Given the description of an element on the screen output the (x, y) to click on. 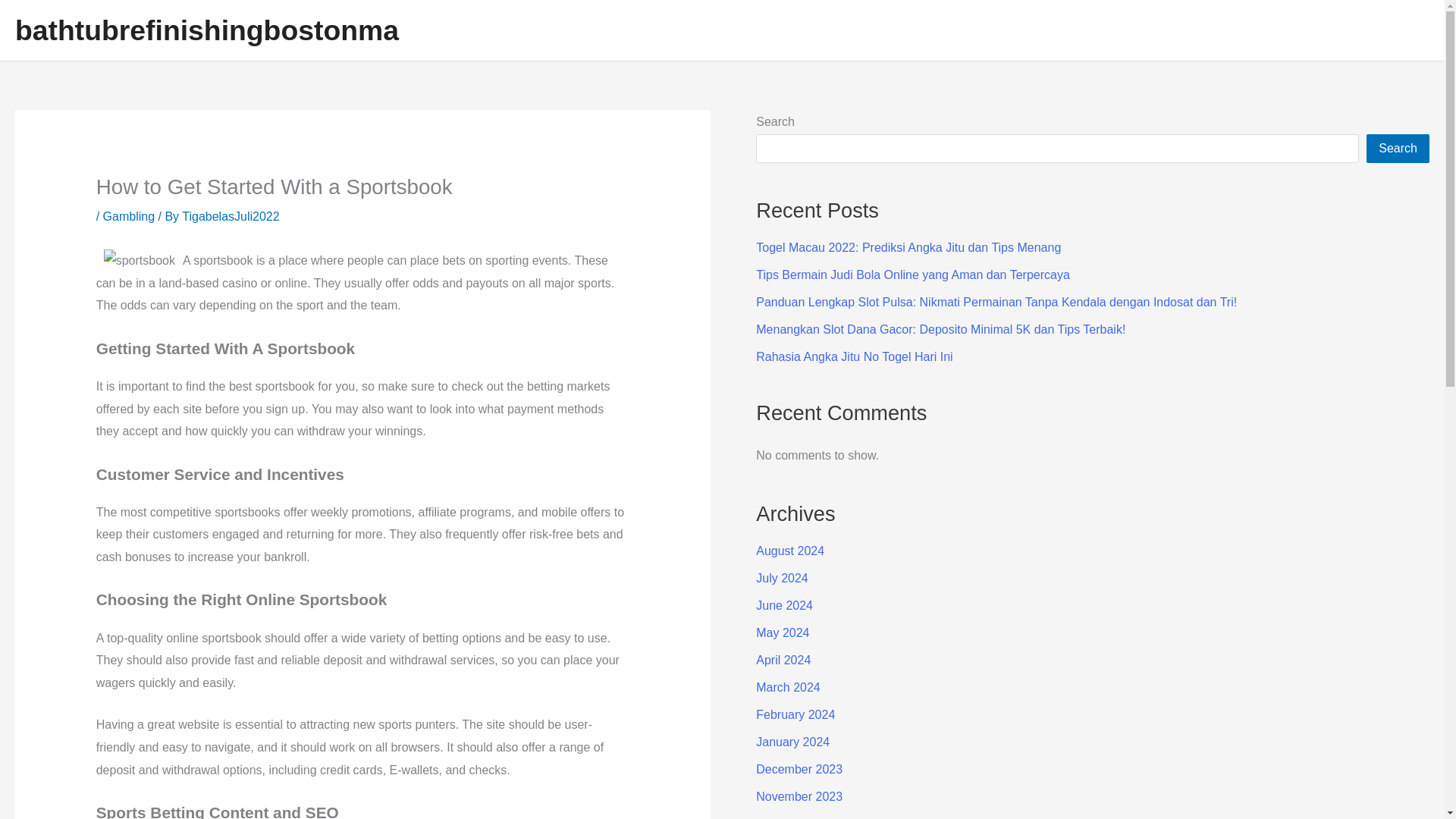
bathtubrefinishingbostonma (206, 29)
Gambling (128, 215)
Search (1398, 148)
February 2024 (794, 714)
View all posts by TigabelasJuli2022 (230, 215)
March 2024 (788, 686)
Togel Macau 2022: Prediksi Angka Jitu dan Tips Menang (908, 246)
August 2024 (789, 550)
July 2024 (781, 577)
May 2024 (782, 632)
